Given the description of an element on the screen output the (x, y) to click on. 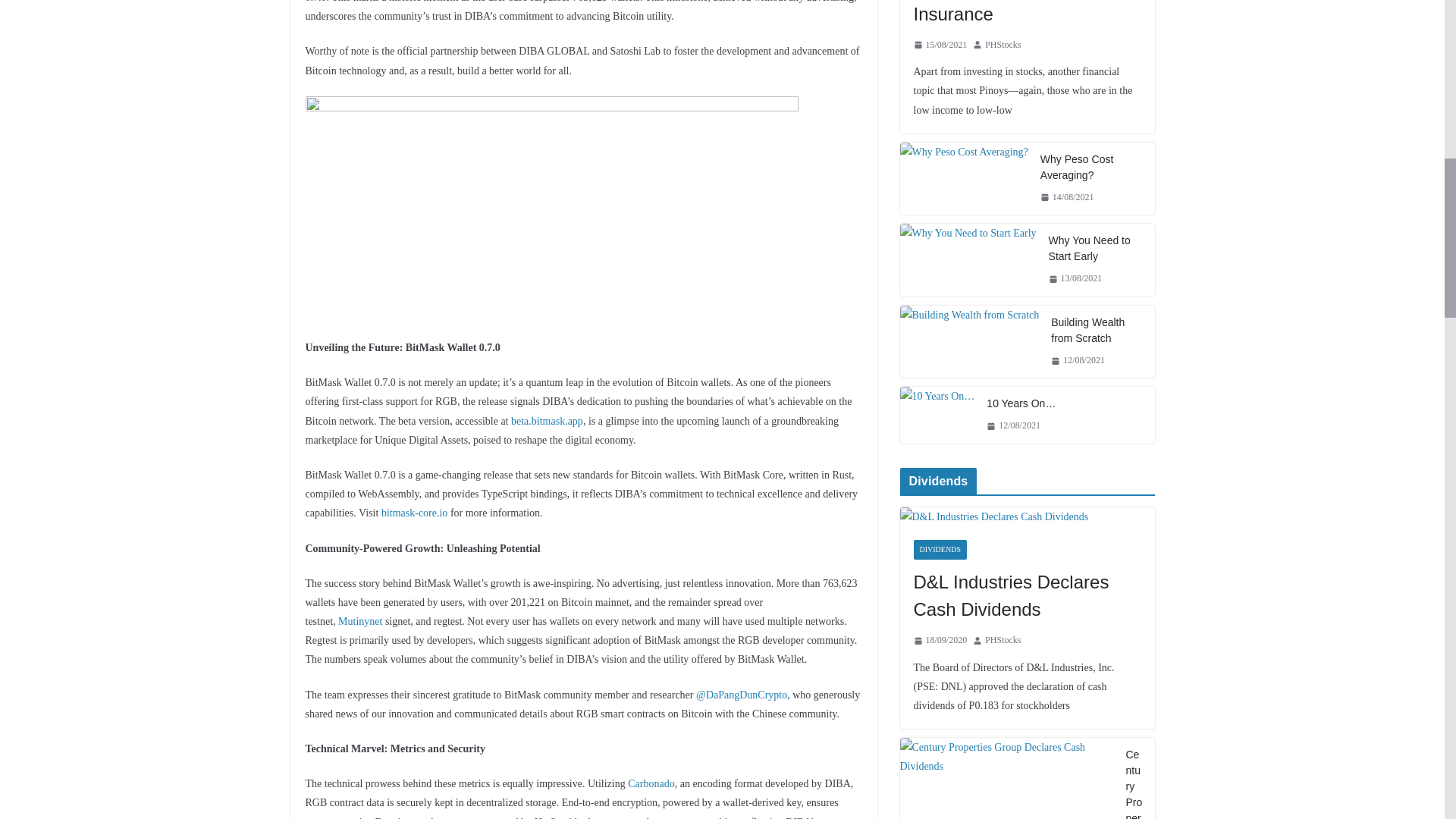
8:05 PM (939, 45)
PHStocks (1002, 45)
bitmask-core.io (413, 512)
beta.bitmask.app (547, 420)
Why Peso Cost Averaging? (963, 151)
Why You Need an Insurance (1026, 13)
Why Peso Cost Averaging? (963, 178)
Mutinynet (359, 621)
